Given the description of an element on the screen output the (x, y) to click on. 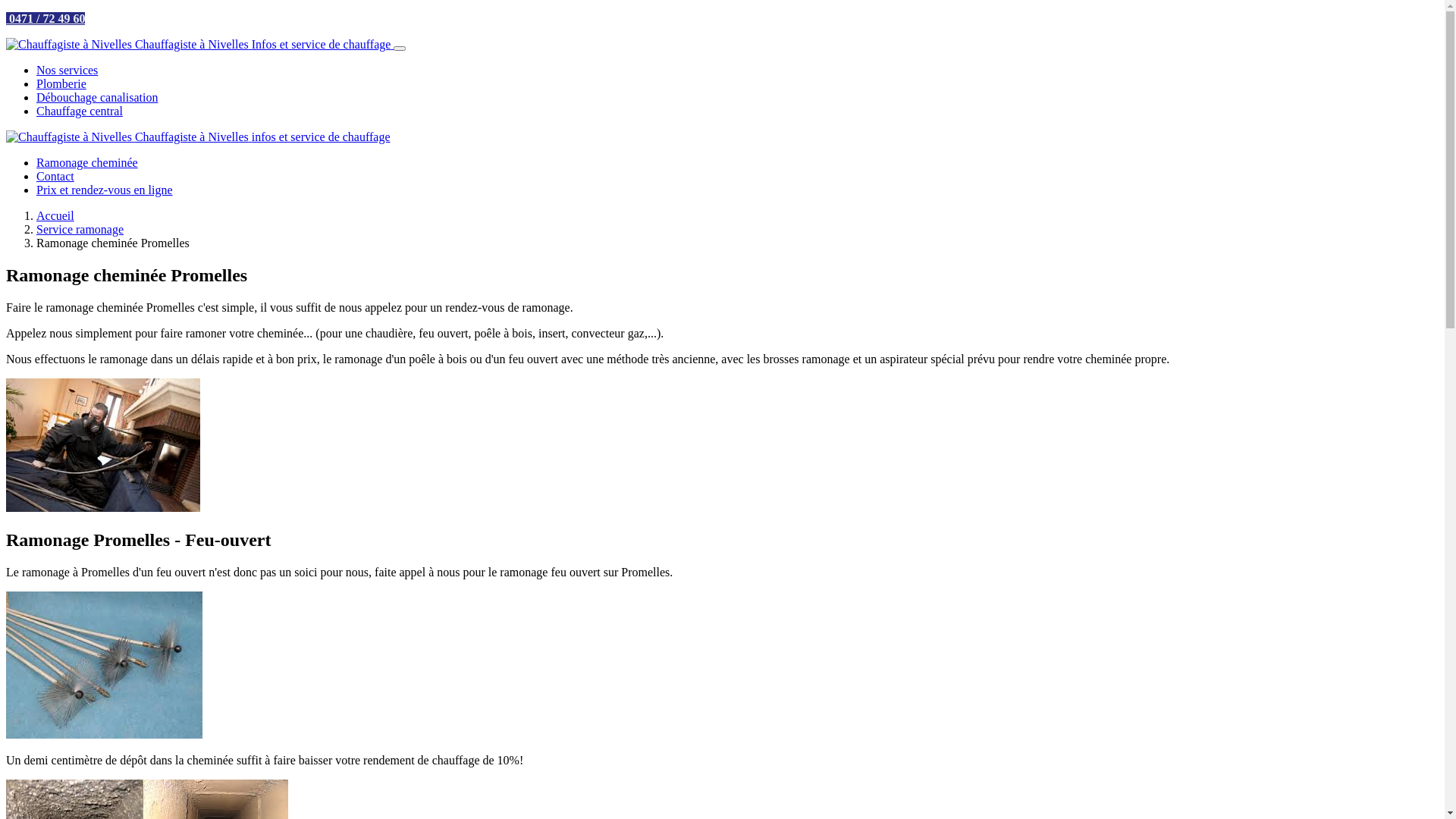
Nos services Element type: text (66, 69)
 0471 / 72 49 60 Element type: text (45, 18)
BurgerMenu Element type: hover (399, 48)
Prix et rendez-vous en ligne Element type: text (104, 189)
Contact Element type: text (55, 175)
Accueil Element type: text (55, 215)
Chauffage central Element type: text (79, 110)
Service ramonage Element type: text (79, 228)
Plomberie Element type: text (61, 83)
